Given the description of an element on the screen output the (x, y) to click on. 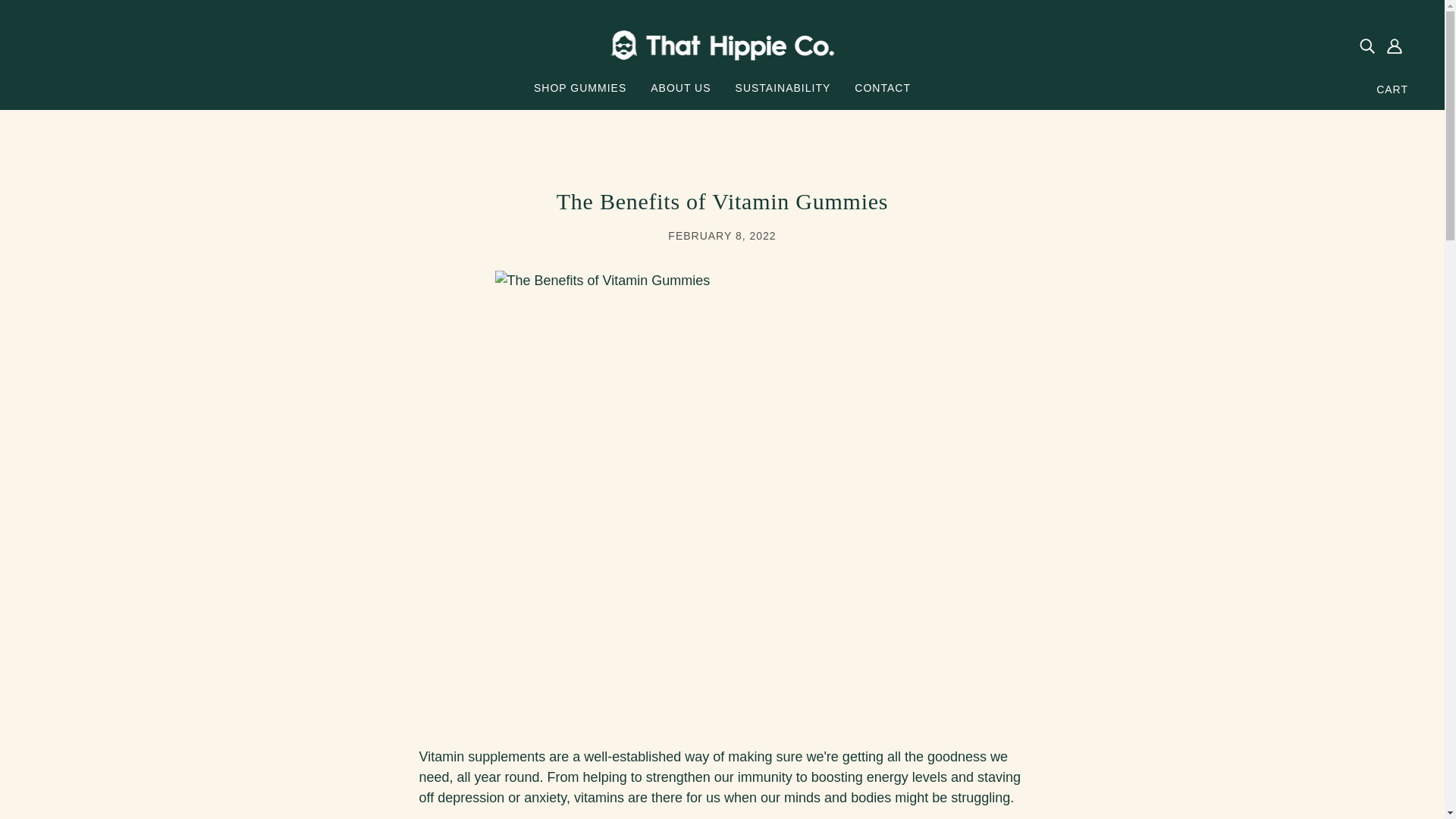
ABOUT US (680, 95)
SHOP GUMMIES (580, 95)
CART (1392, 88)
CONTACT (883, 95)
That Hippie Co. (722, 44)
SUSTAINABILITY (783, 95)
